Given the description of an element on the screen output the (x, y) to click on. 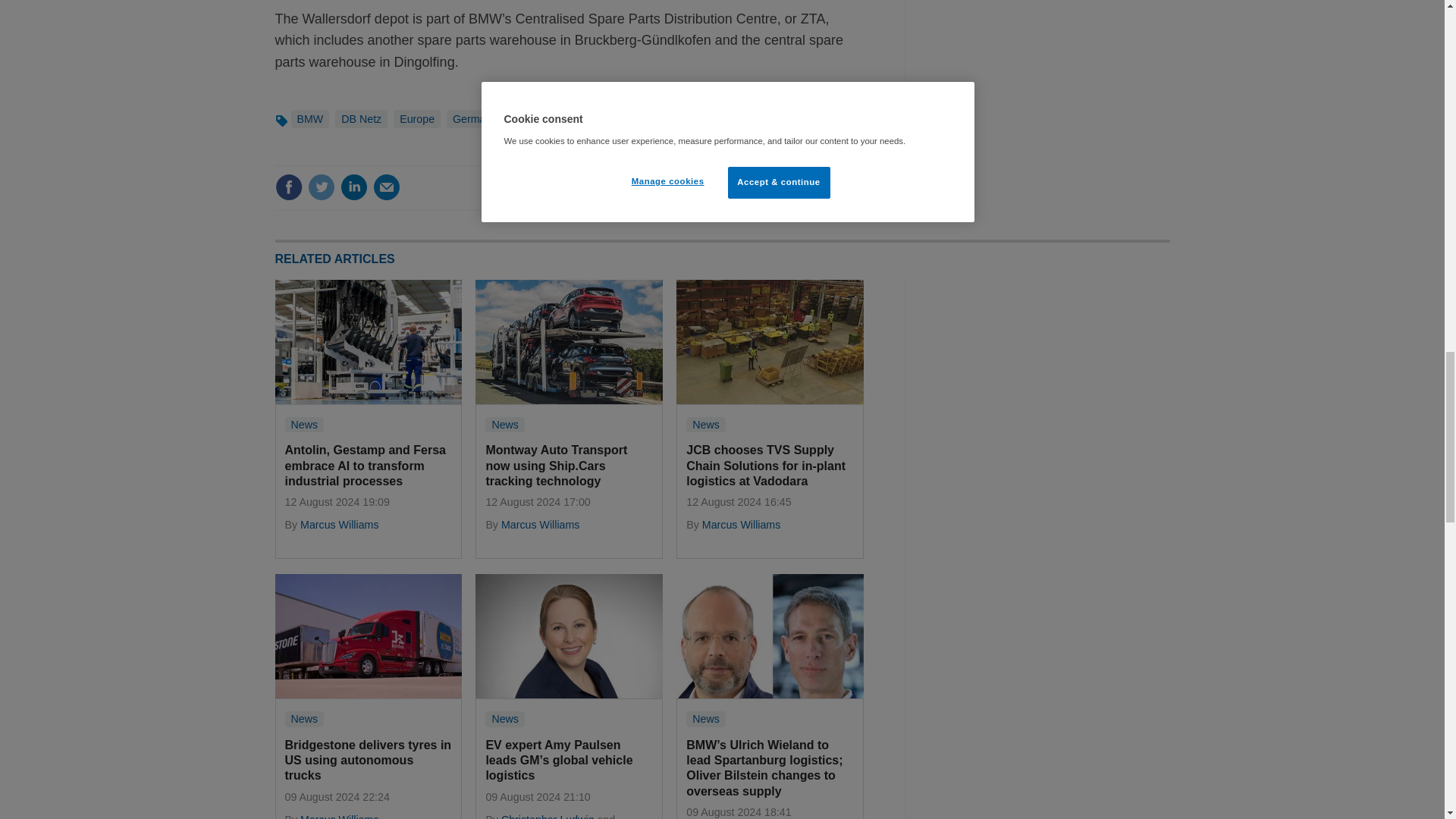
Share this on Facebook (288, 186)
Email this article (386, 186)
Share this on Twitter (320, 186)
Share this on Linked in (352, 186)
